Given the description of an element on the screen output the (x, y) to click on. 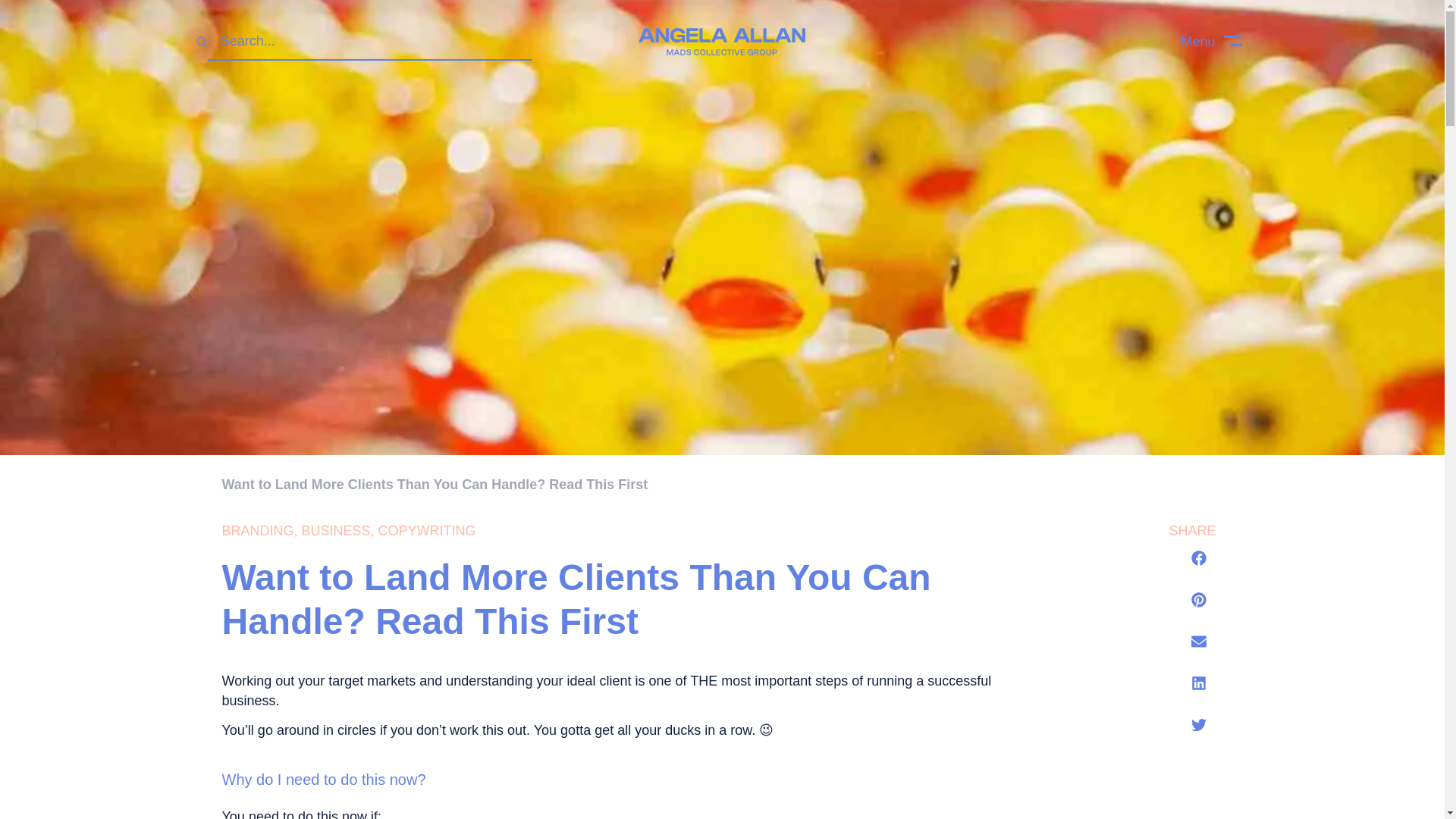
BRANDING (257, 530)
BUSINESS (336, 530)
Menu (1210, 41)
COPYWRITING (427, 530)
